Given the description of an element on the screen output the (x, y) to click on. 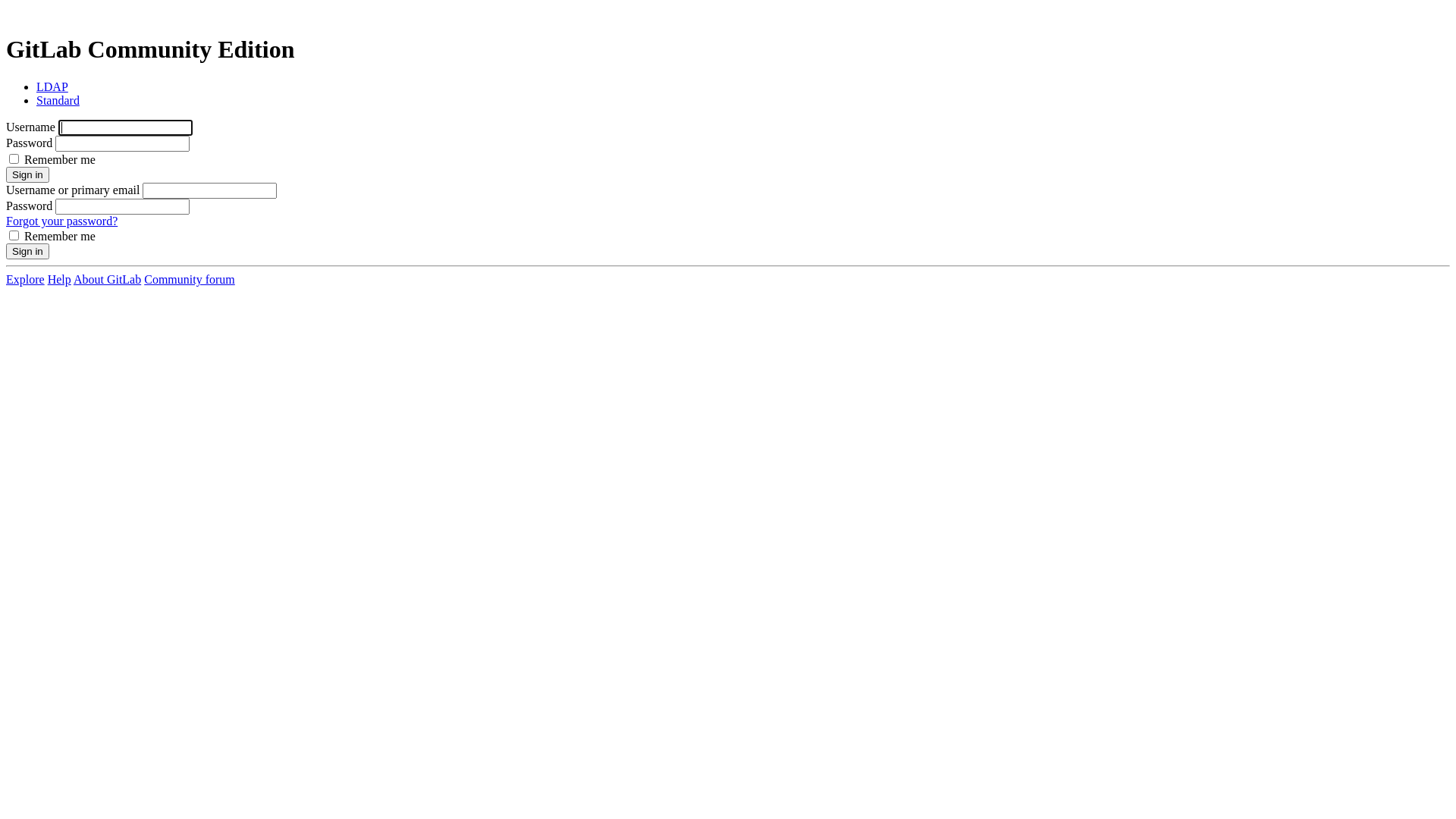
This field is required. Element type: hover (125, 127)
Standard Element type: text (57, 100)
Sign in Element type: text (27, 174)
Help Element type: text (59, 279)
Community forum Element type: text (189, 279)
About GitLab Element type: text (107, 279)
LDAP Element type: text (52, 86)
Forgot your password? Element type: text (61, 220)
This field is required. Element type: hover (209, 190)
Explore Element type: text (25, 279)
Sign in Element type: text (27, 251)
